Given the description of an element on the screen output the (x, y) to click on. 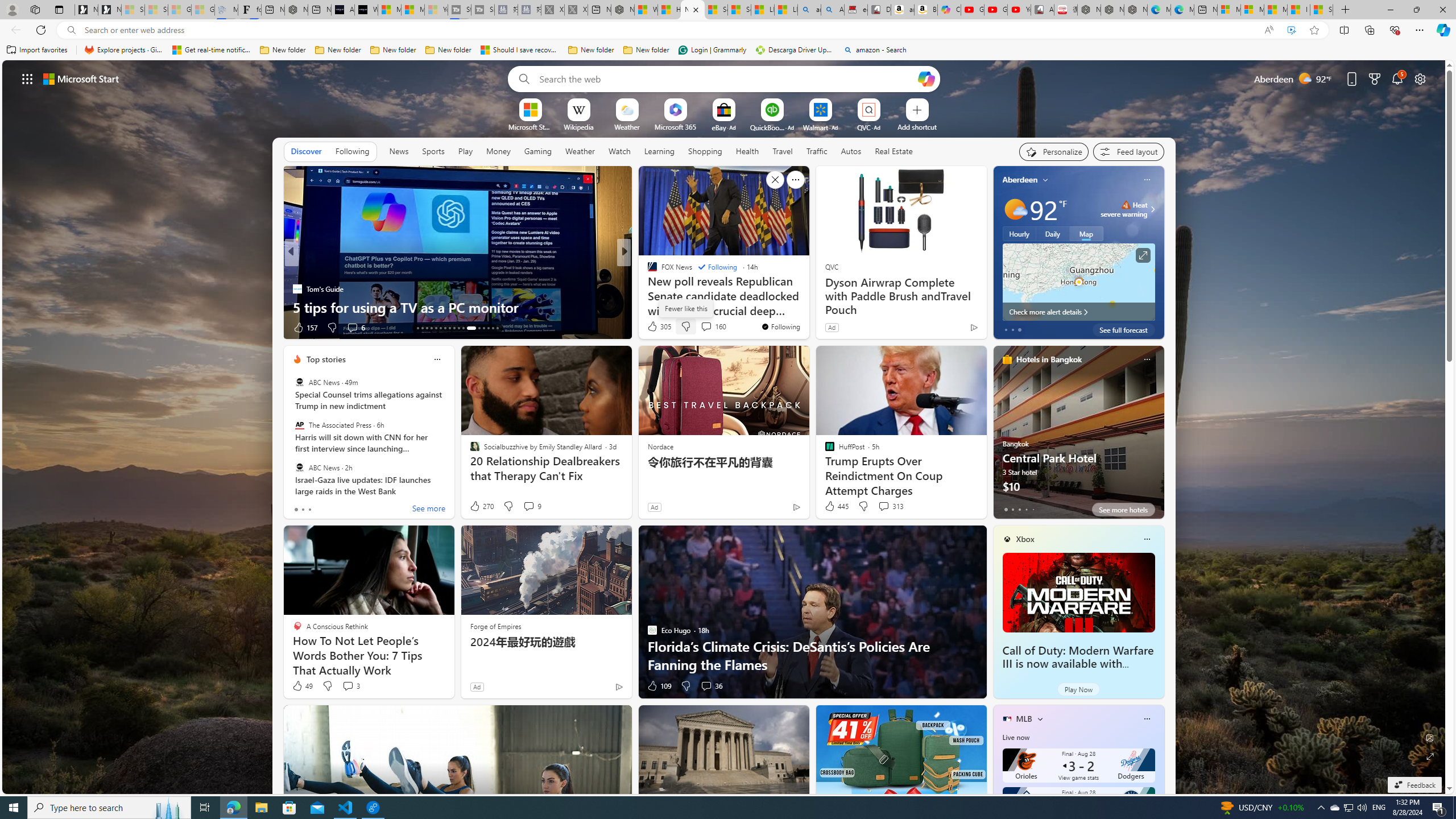
Enhance video (1291, 29)
Restore (1416, 9)
20 Like (652, 327)
Address and search bar (669, 29)
Notifications (1397, 78)
View comments 9 Comment (528, 505)
Travel (782, 151)
Nordace - Nordace has arrived Hong Kong (1135, 9)
View comments 107 Comment (703, 327)
QVC (831, 266)
Open Copilot (926, 78)
AutomationID: tab-18 (440, 328)
Copilot (949, 9)
next (1158, 252)
Microsoft rewards (1374, 78)
